Given the description of an element on the screen output the (x, y) to click on. 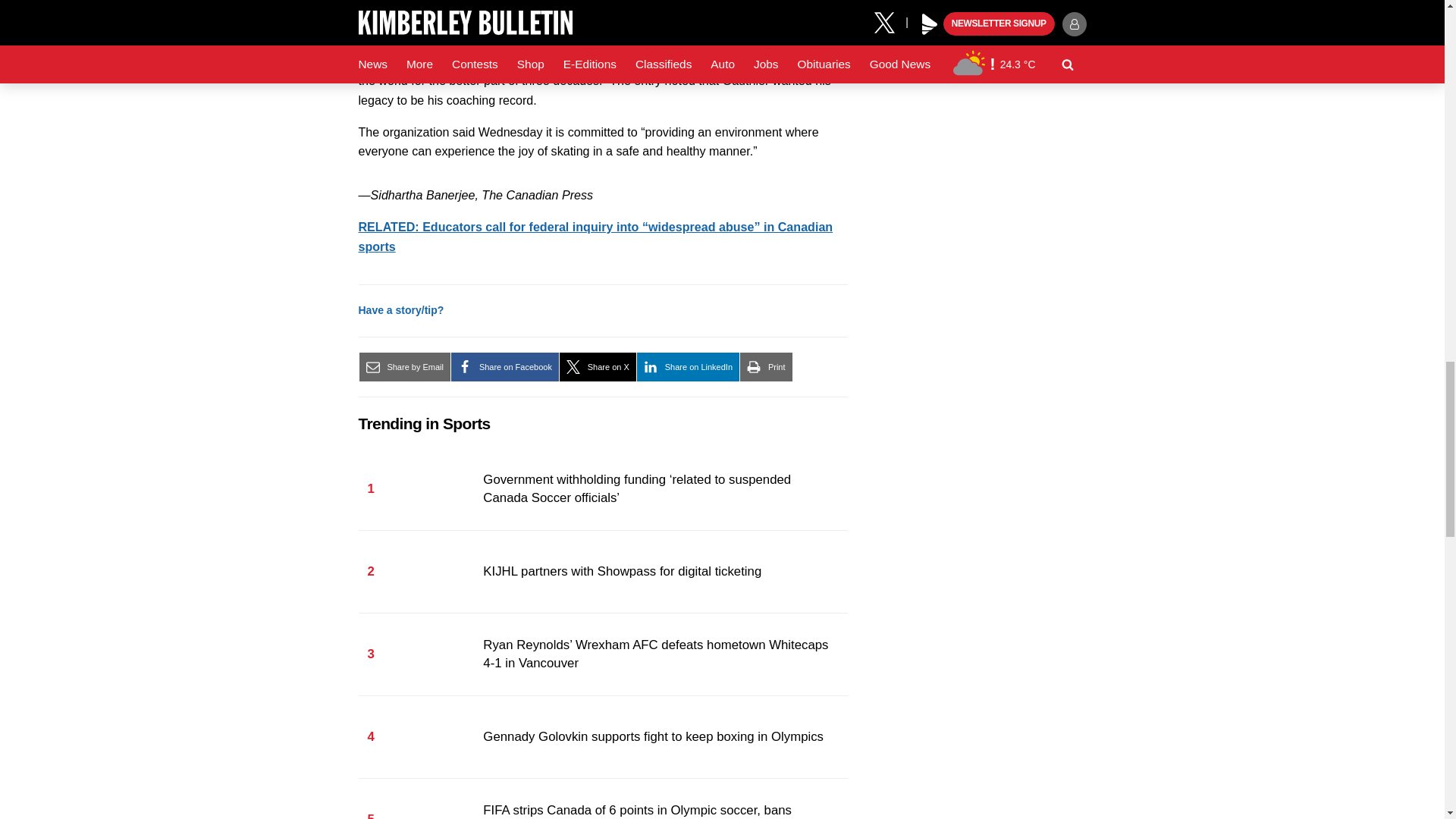
related story (595, 236)
